Given the description of an element on the screen output the (x, y) to click on. 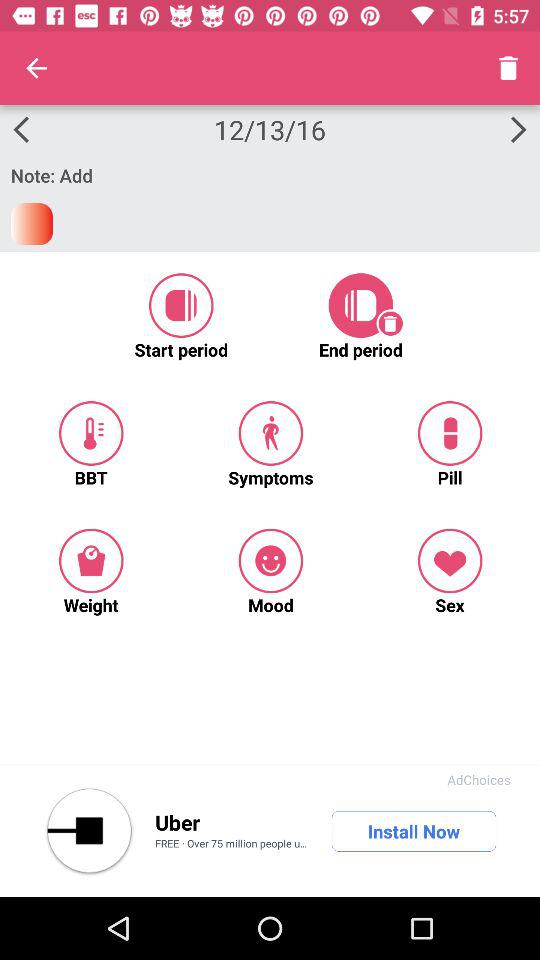
press the app below the adchoices item (413, 831)
